Given the description of an element on the screen output the (x, y) to click on. 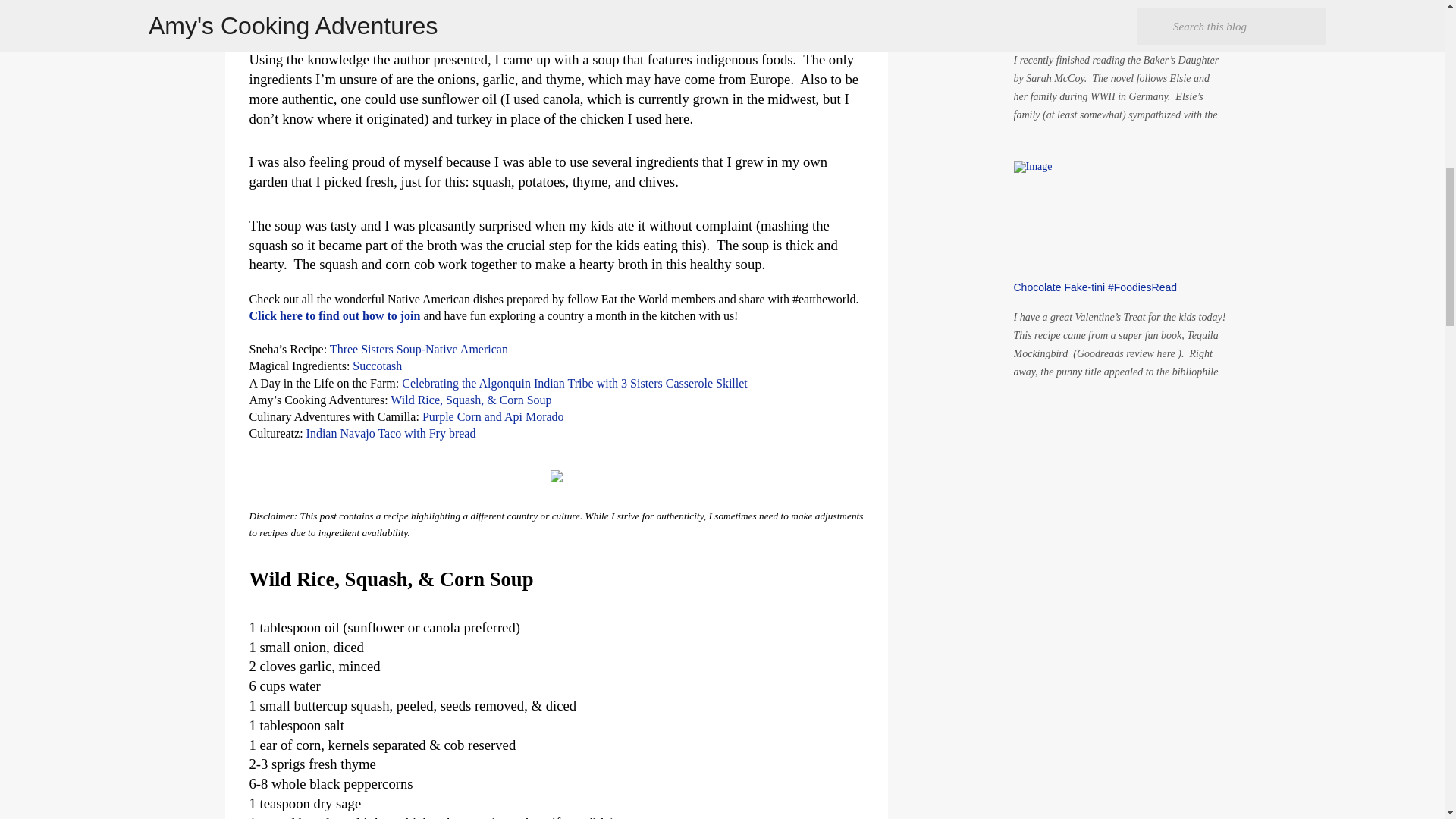
Purple Corn and Api Morado (493, 416)
Indian Navajo Taco with Fry bread (390, 432)
Click here to find out how to join (334, 315)
Three Sisters Soup-Native American (419, 349)
Succotash (376, 365)
